Given the description of an element on the screen output the (x, y) to click on. 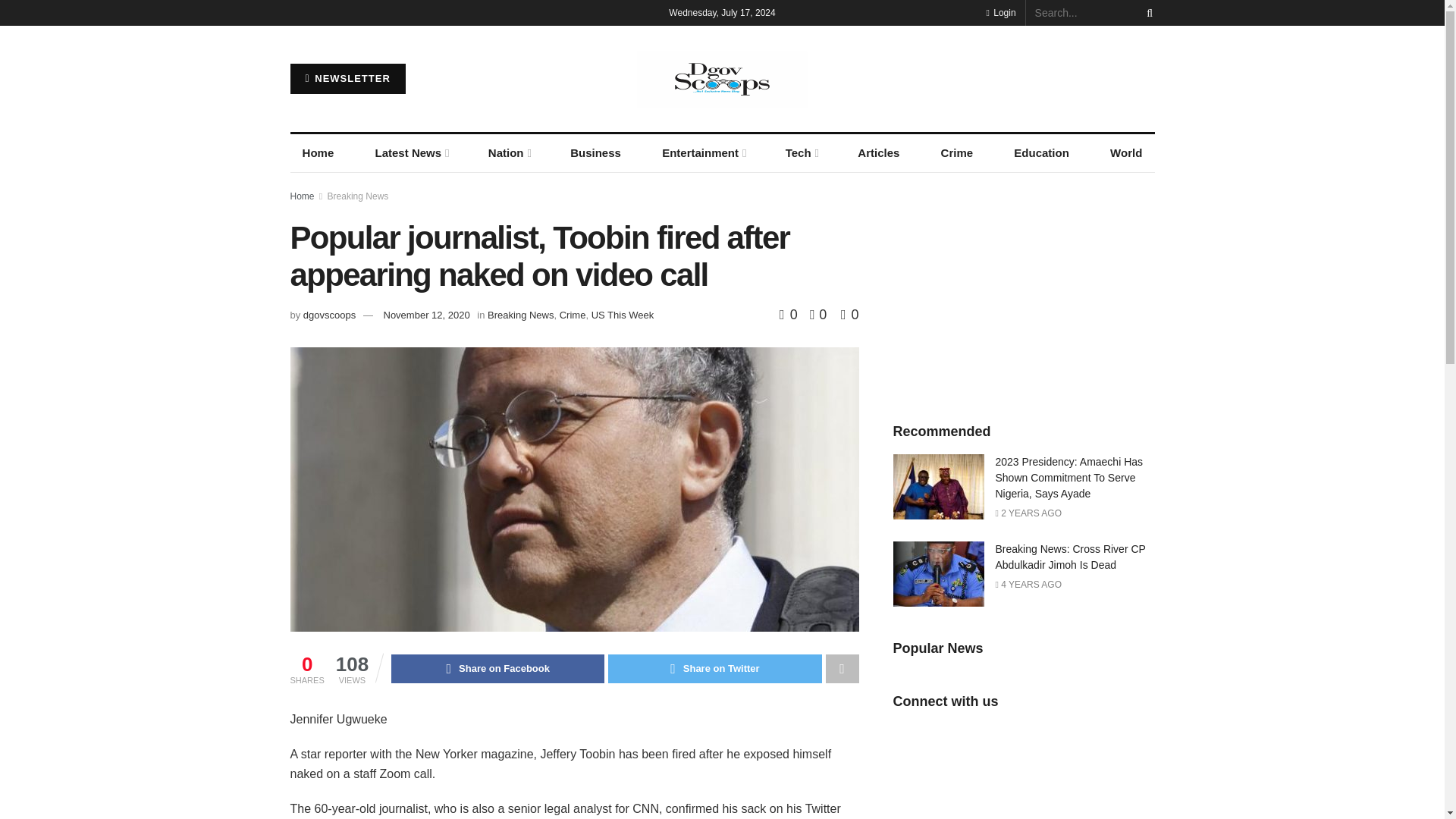
Articles (878, 152)
Entertainment (703, 152)
Latest News (410, 152)
Education (1041, 152)
Nation (508, 152)
Home (317, 152)
Tech (801, 152)
Login (999, 12)
Crime (956, 152)
Advertisement (1023, 289)
Business (595, 152)
World (1125, 152)
NEWSLETTER (346, 78)
